Given the description of an element on the screen output the (x, y) to click on. 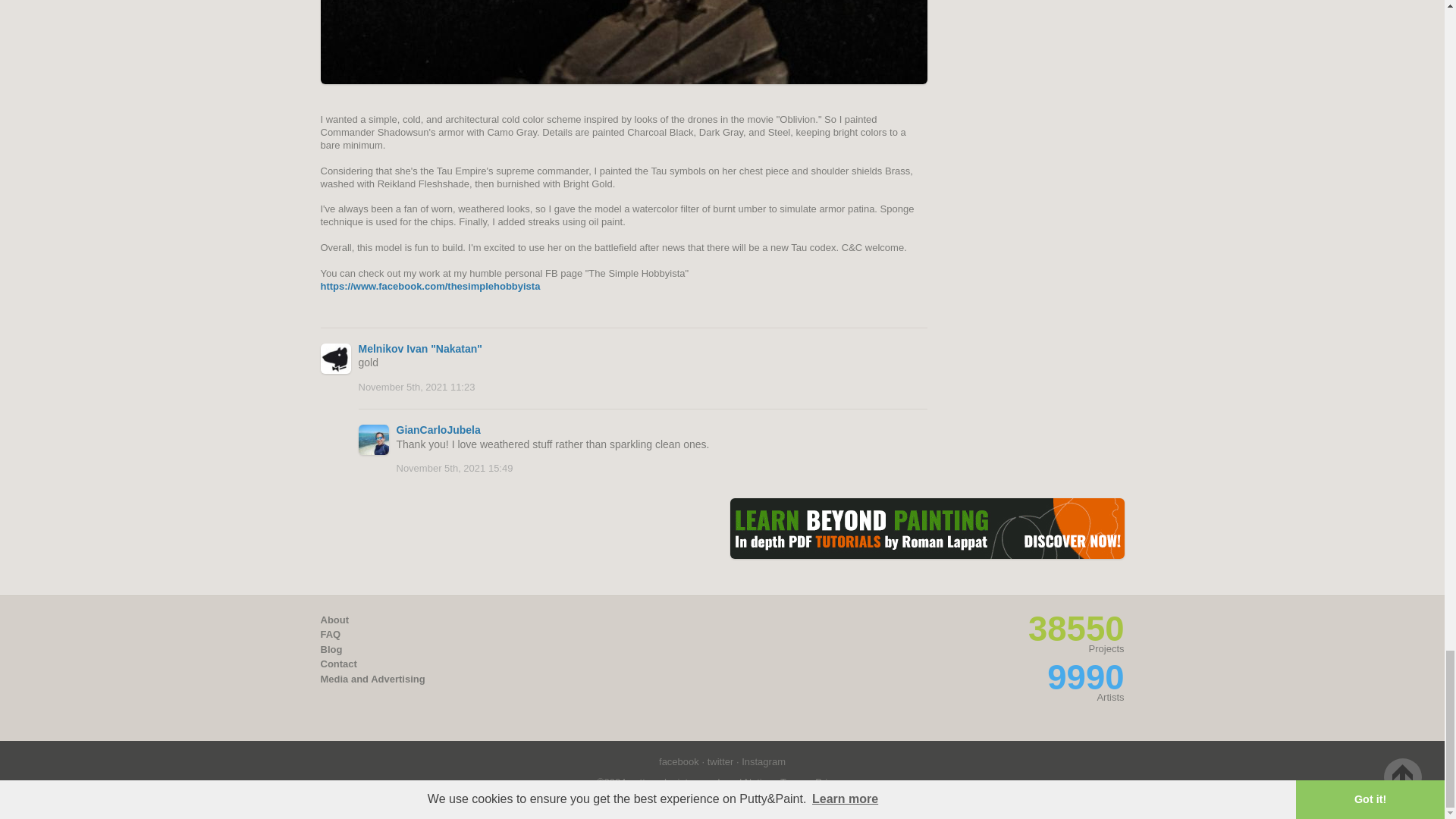
GianCarloJubela (438, 429)
FAQ (330, 633)
Show all projects (1075, 628)
Media and Advertising (372, 678)
Blog (331, 649)
Melnikov Ivan "Nakatan" (419, 348)
Contact and Feeback (338, 663)
Show all artists (1085, 677)
Roman Lappat Tutorial PDF (926, 527)
